Given the description of an element on the screen output the (x, y) to click on. 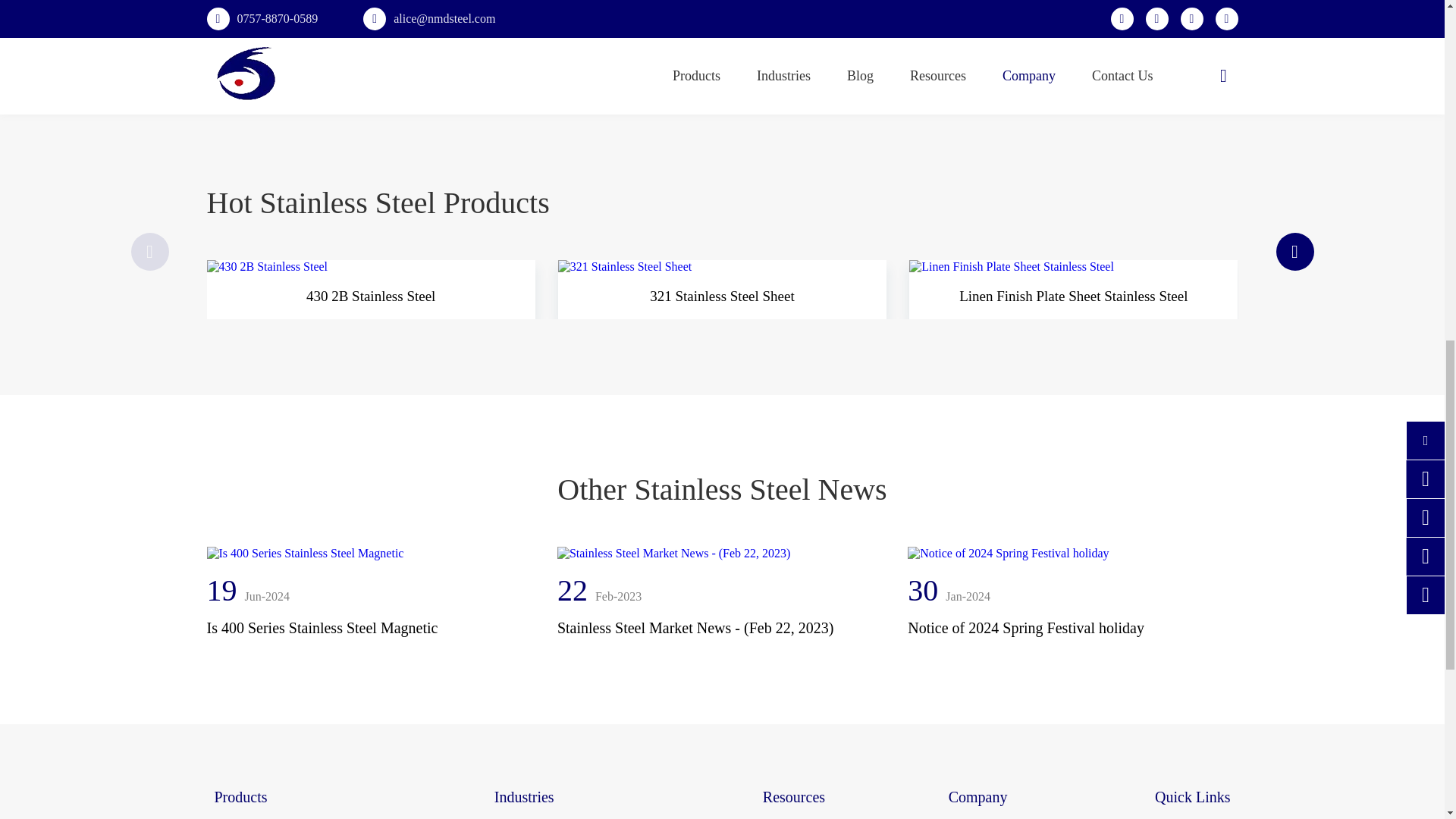
Notice of 2024 Spring Festival holiday (1072, 553)
Company Dinner (604, 18)
Linen Finish Plate Sheet Stainless Steel (1072, 266)
Is 400 Series Stainless Steel Magnetic (370, 553)
430 2B Stainless Steel (370, 266)
321 Stainless Steel Sheet (721, 266)
